Given the description of an element on the screen output the (x, y) to click on. 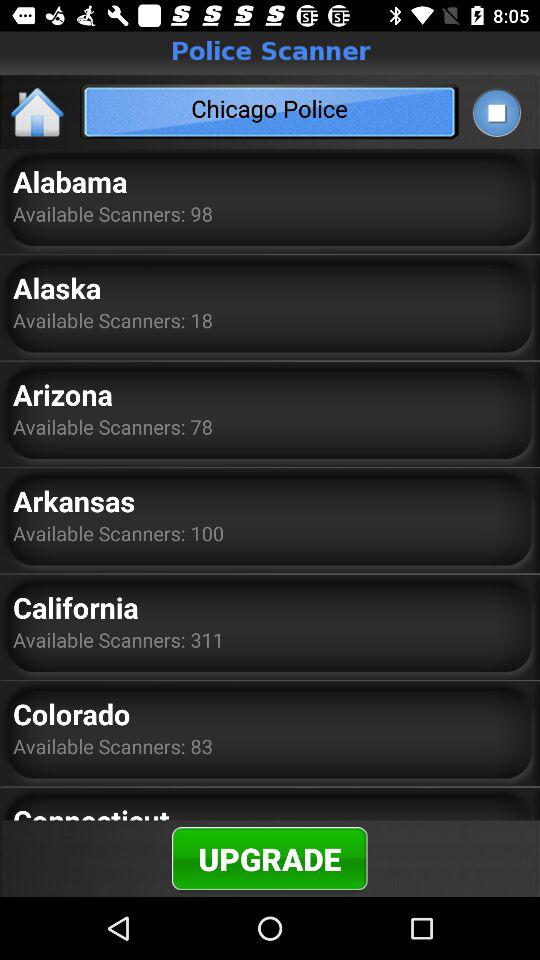
turn on item above the upgrade item (91, 810)
